Given the description of an element on the screen output the (x, y) to click on. 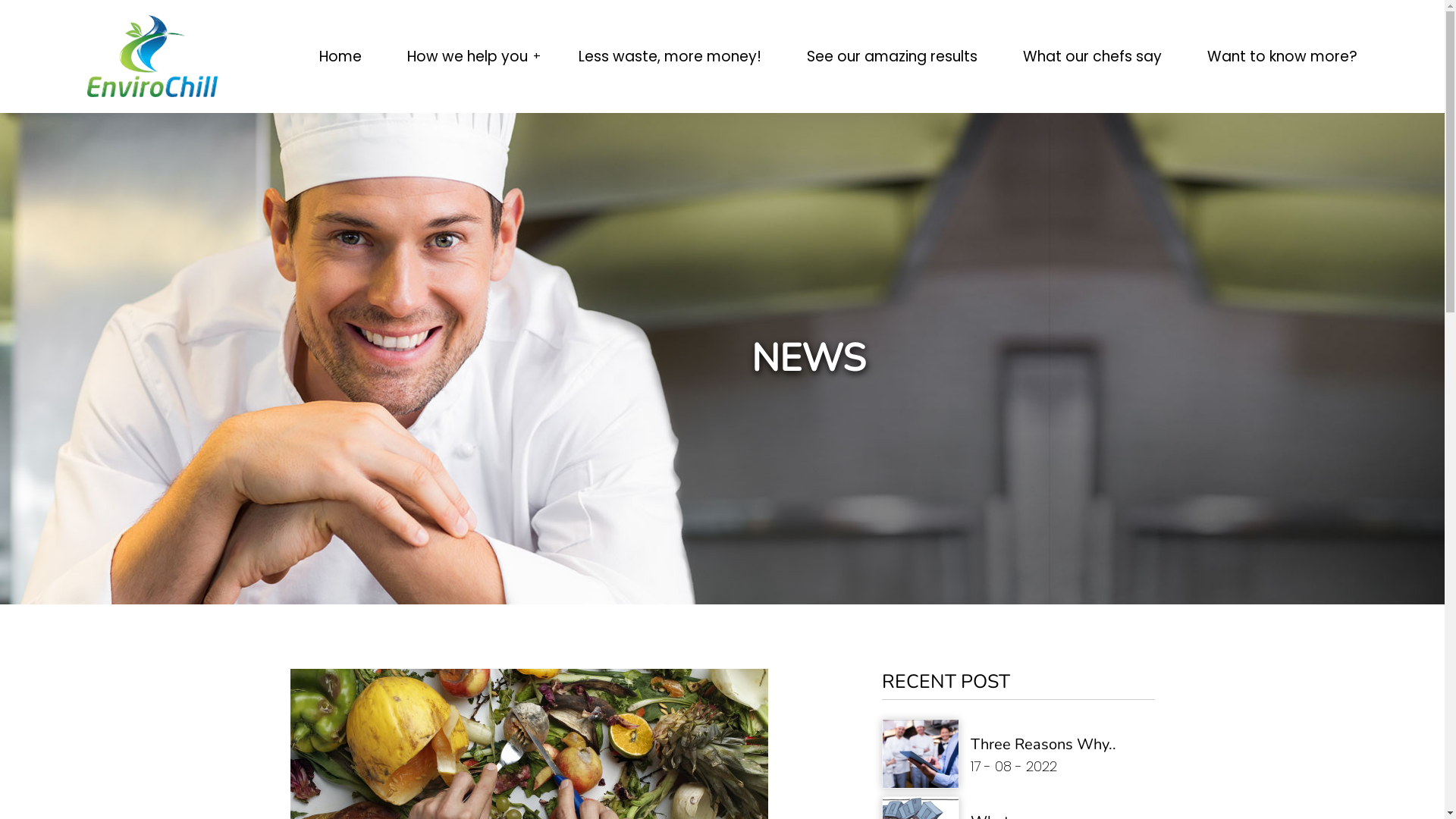
Home Element type: text (340, 56)
Less waste, more money! Element type: text (669, 56)
How we help you Element type: text (470, 56)
What our chefs say Element type: text (1091, 56)
Three Reasons Why.. Element type: text (1043, 744)
Want to know more? Element type: text (1282, 56)
See our amazing results Element type: text (891, 56)
